Given the description of an element on the screen output the (x, y) to click on. 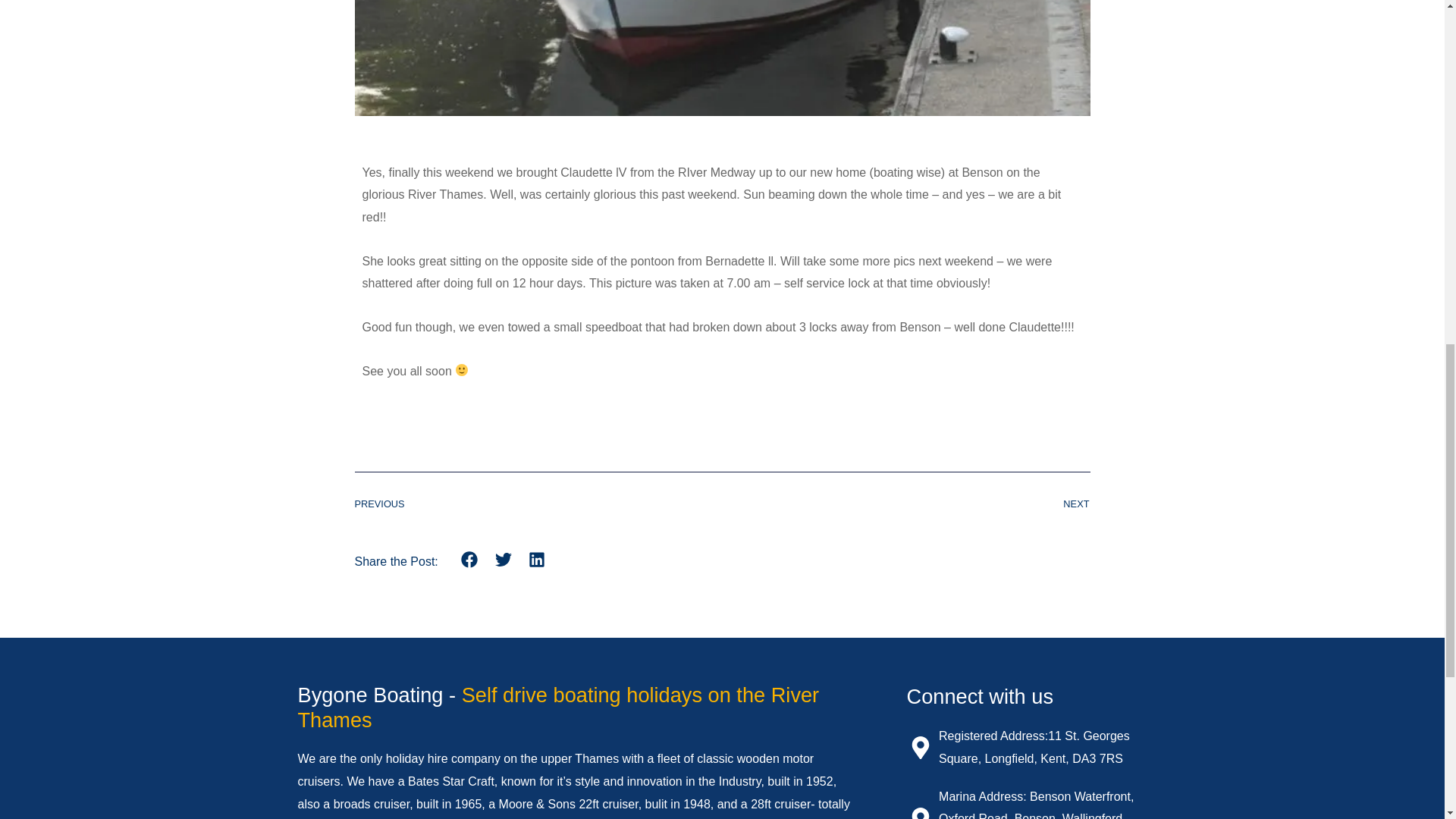
PREVIOUS (538, 504)
NEXT (905, 504)
